Given the description of an element on the screen output the (x, y) to click on. 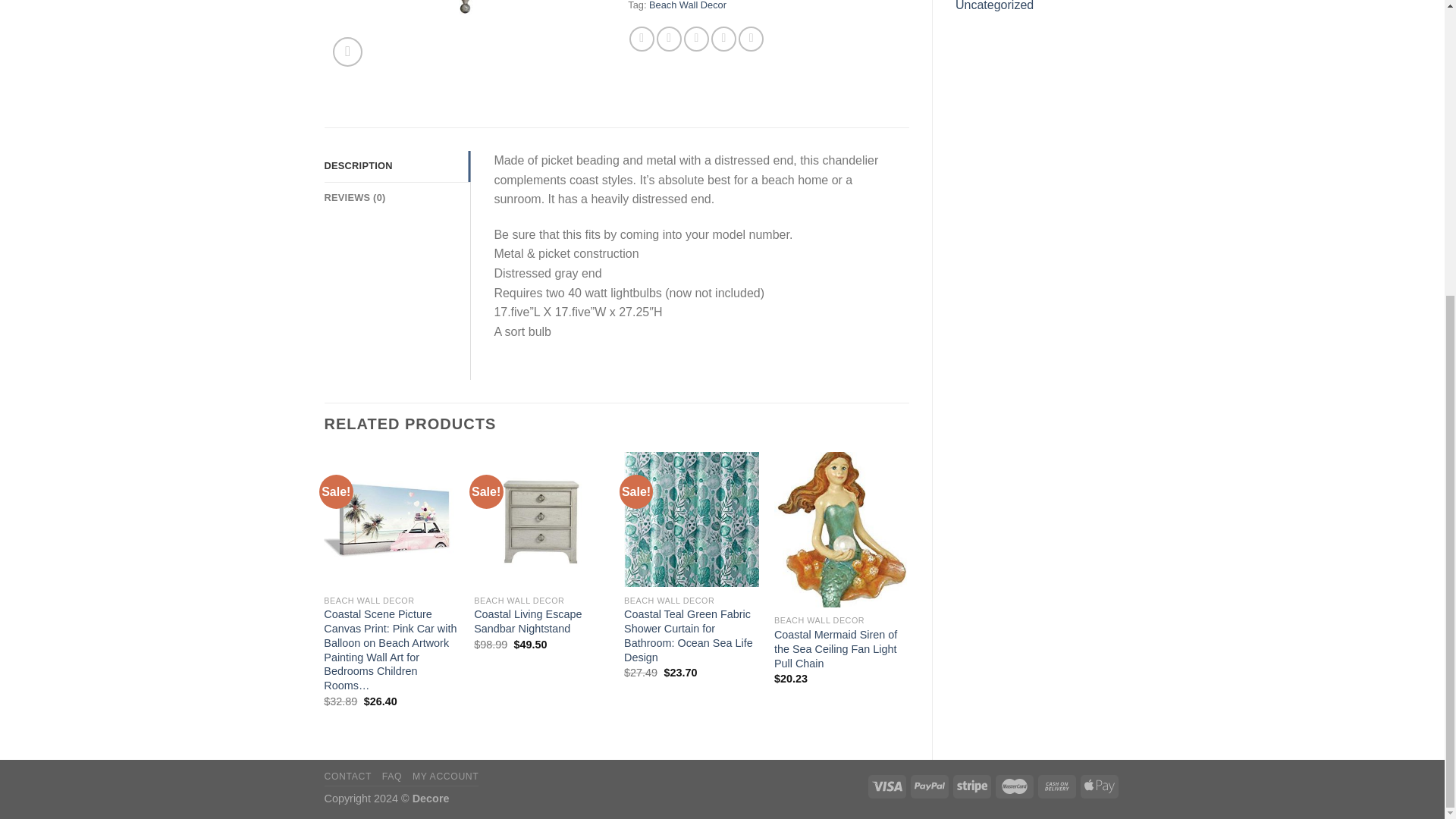
Uncategorized (1038, 9)
Beach Wall Decor (687, 5)
Zoom (347, 51)
BEDW47379.jpg (464, 13)
Share on Twitter (668, 38)
Share on Facebook (640, 38)
Email to a Friend (696, 38)
